Given the description of an element on the screen output the (x, y) to click on. 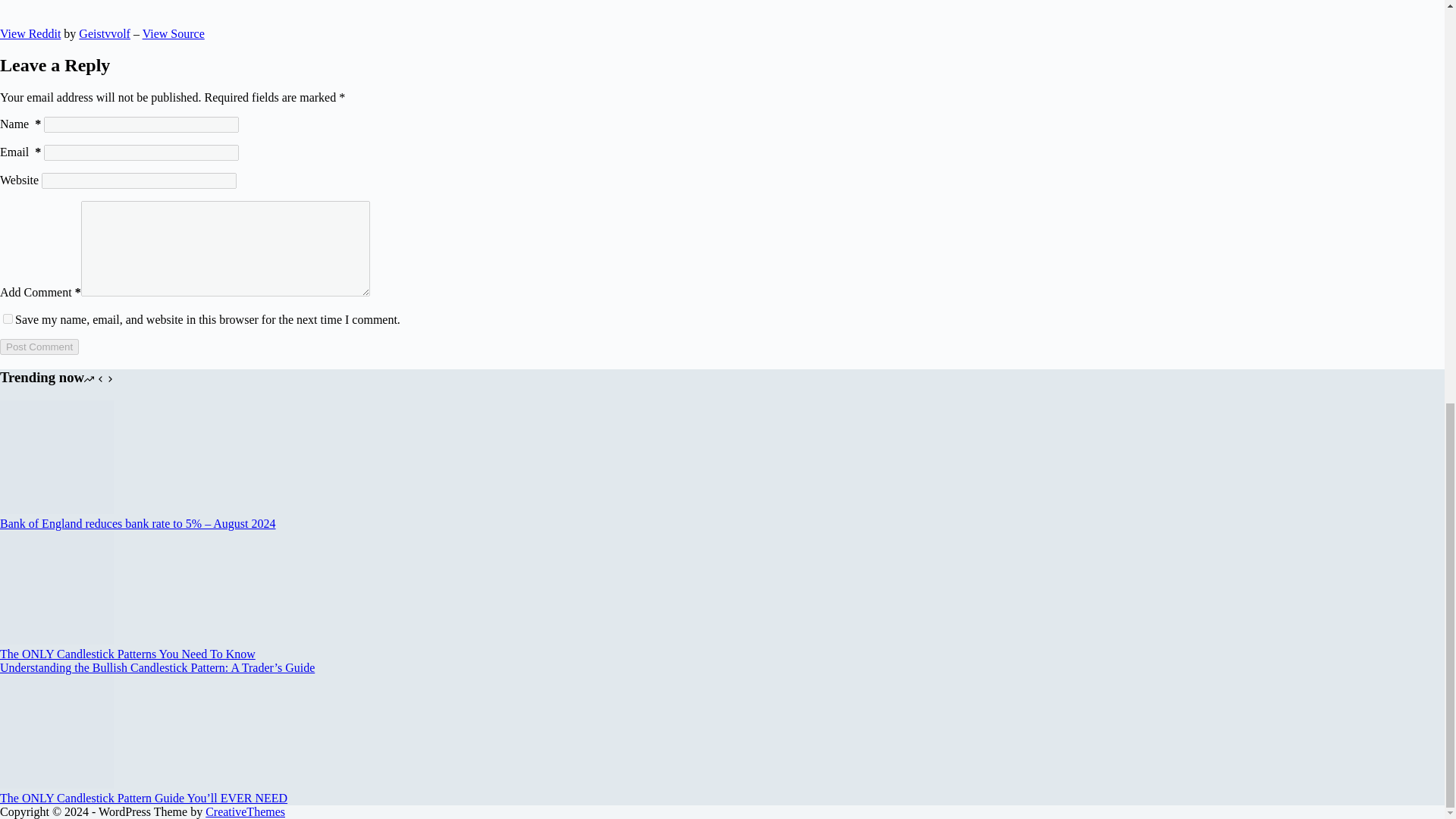
yes (7, 318)
